Given the description of an element on the screen output the (x, y) to click on. 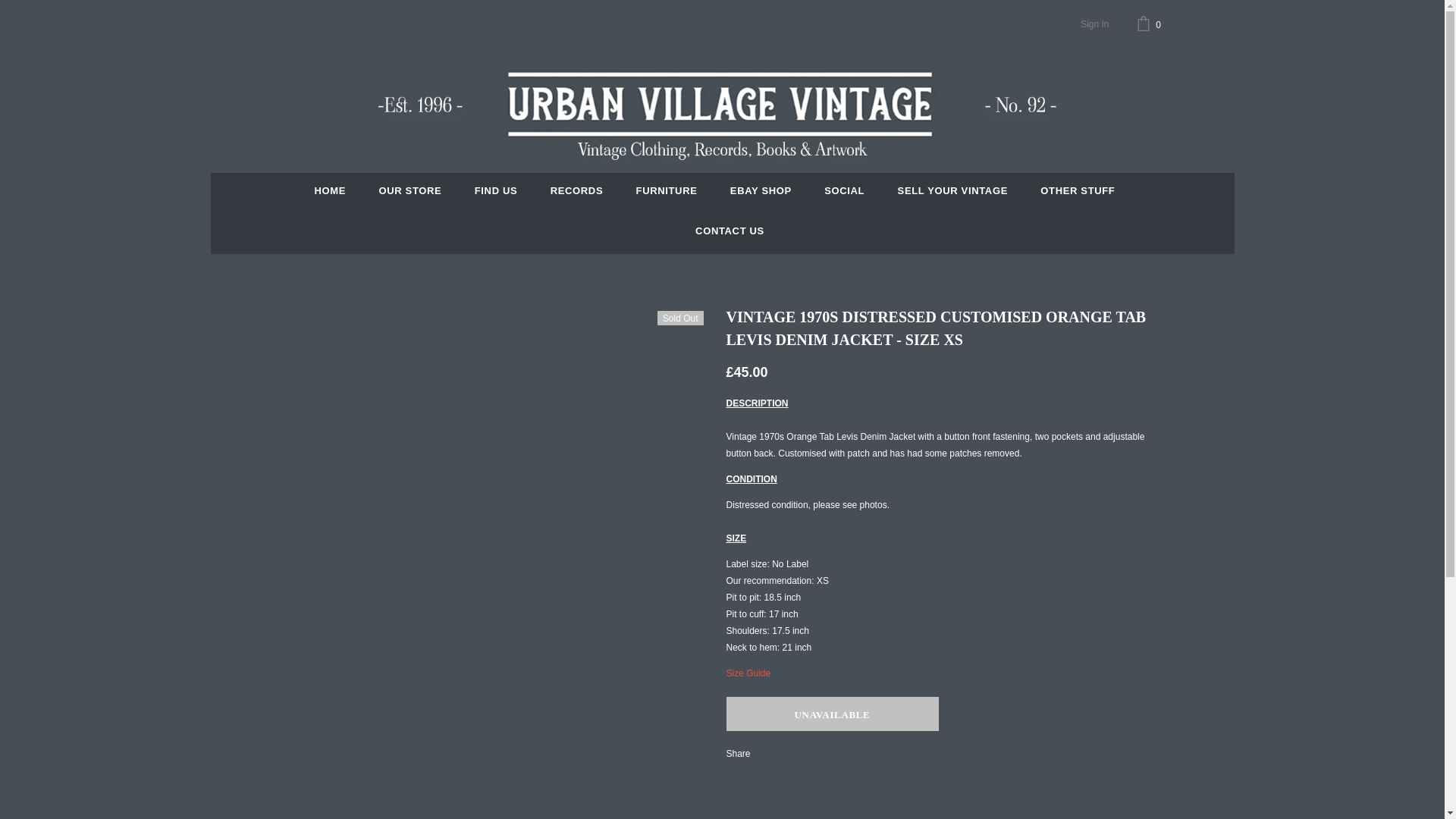
OUR STORE (409, 192)
RECORDS (577, 192)
OTHER STUFF (1078, 192)
Unavailable (832, 713)
Cart Icon (1150, 23)
EBAY SHOP (761, 192)
FIND US (496, 192)
CONTACT US (729, 232)
SELL YOUR VINTAGE (952, 192)
Sign In (1094, 24)
